Given the description of an element on the screen output the (x, y) to click on. 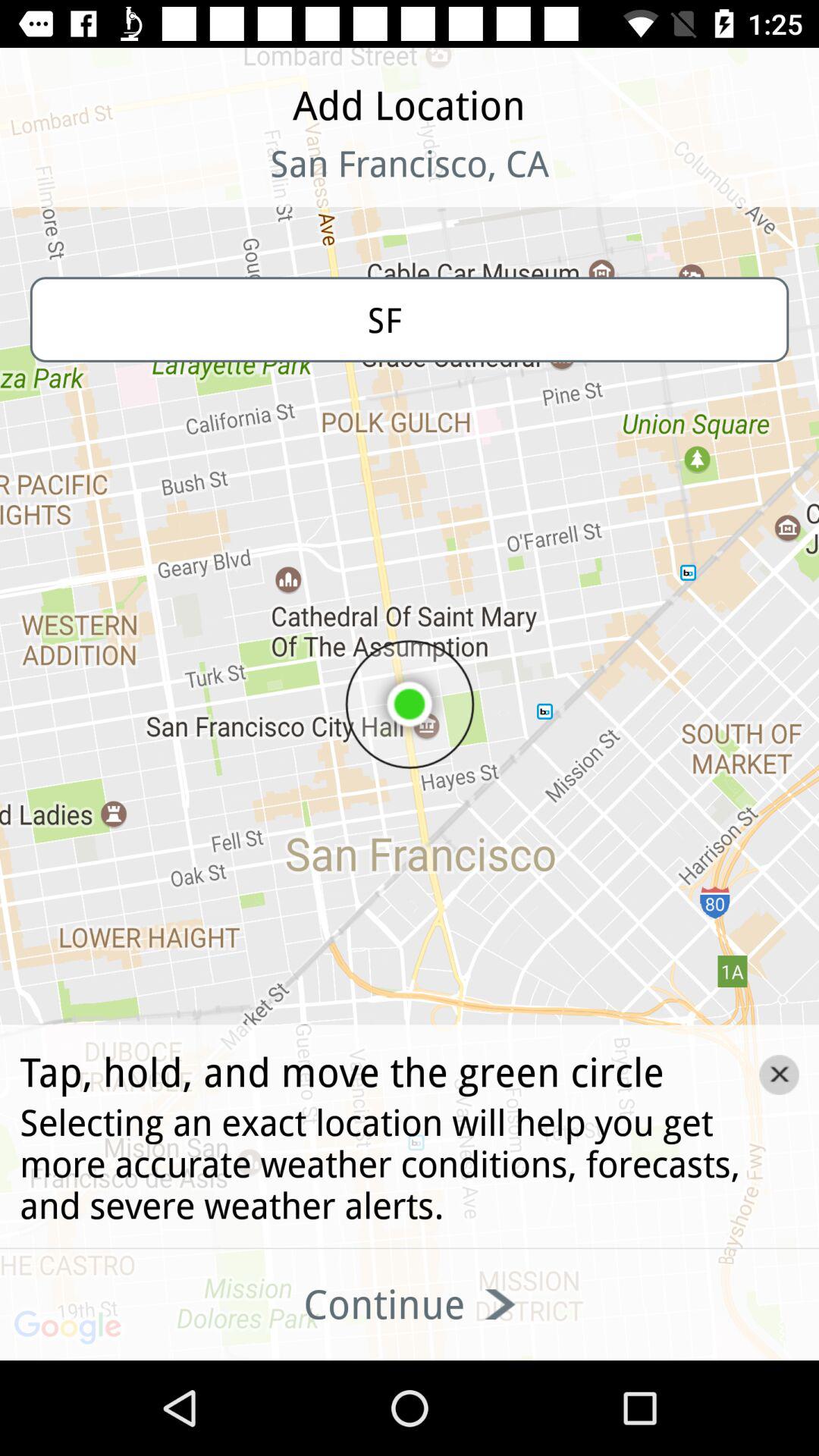
choose the sf item (409, 319)
